Given the description of an element on the screen output the (x, y) to click on. 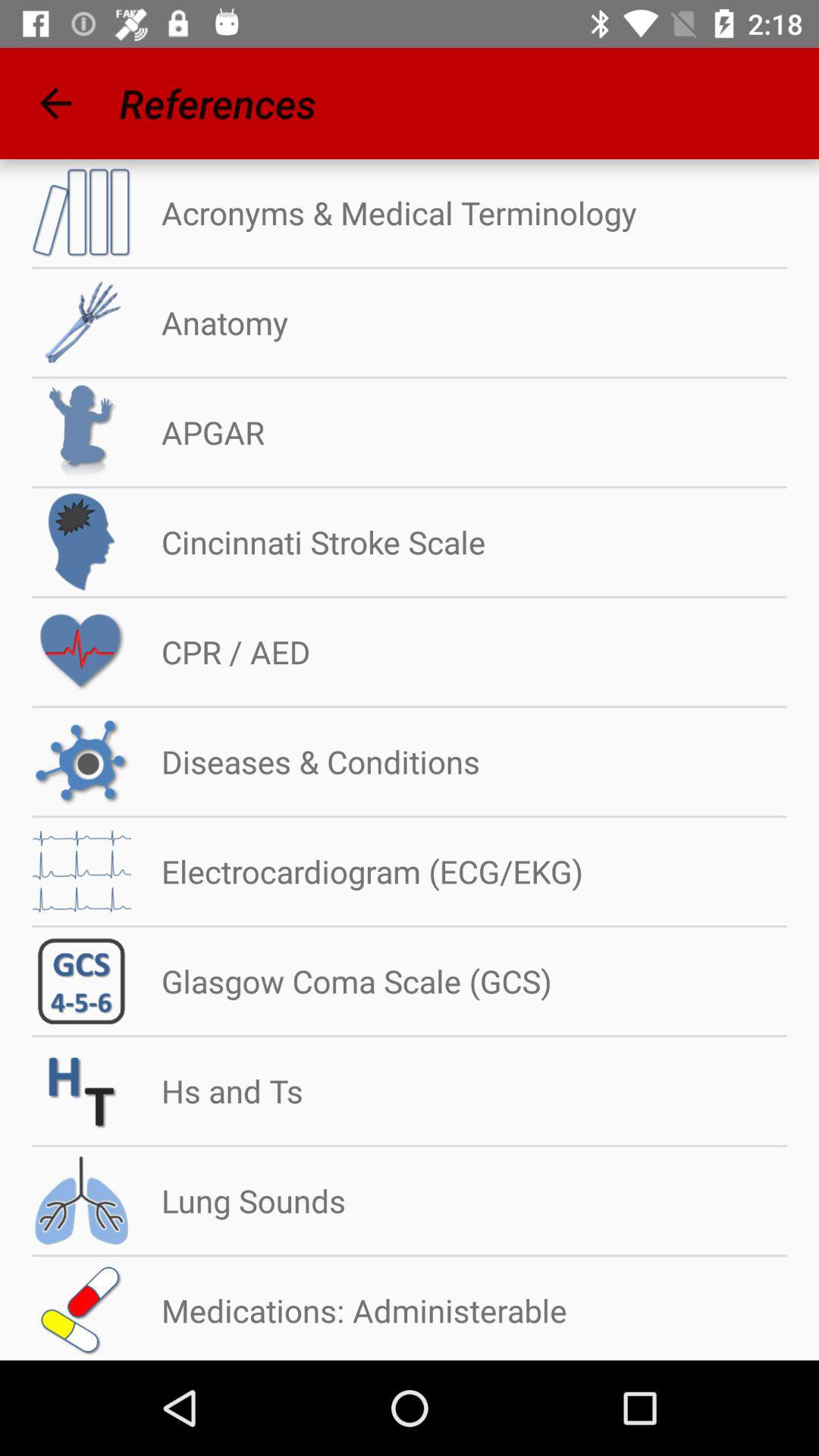
turn on the lung sounds (238, 1200)
